Given the description of an element on the screen output the (x, y) to click on. 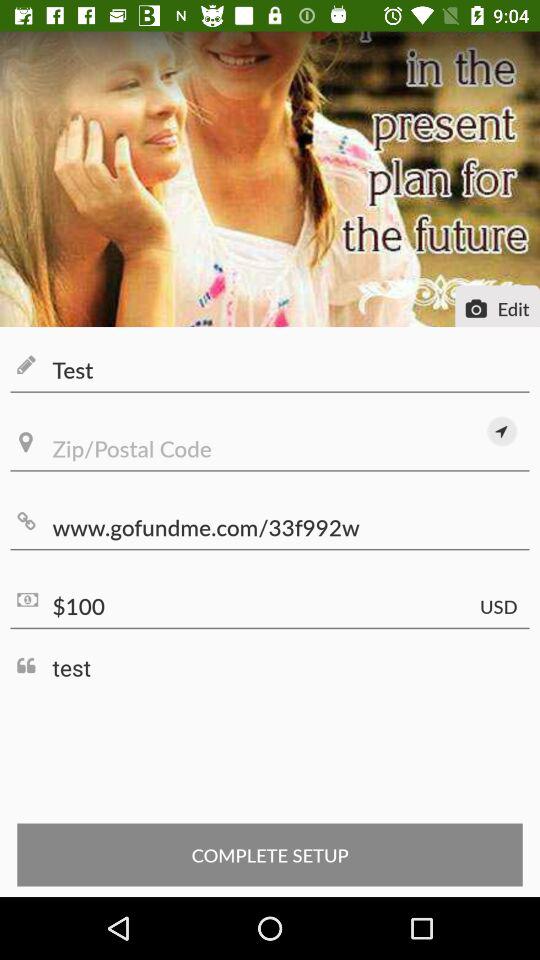
jump to the $100 icon (269, 606)
